Given the description of an element on the screen output the (x, y) to click on. 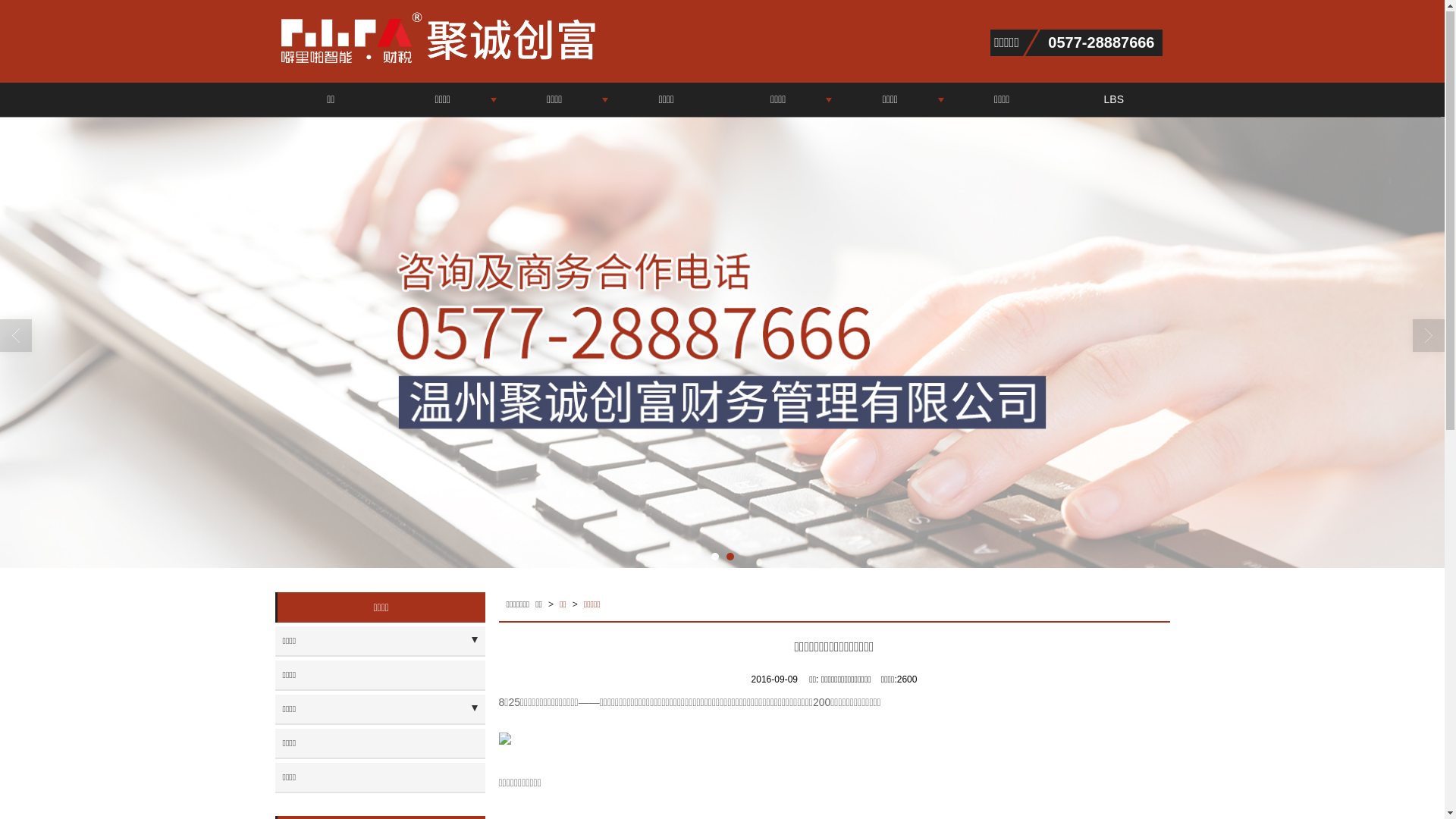
LBS Element type: text (1113, 99)
